Given the description of an element on the screen output the (x, y) to click on. 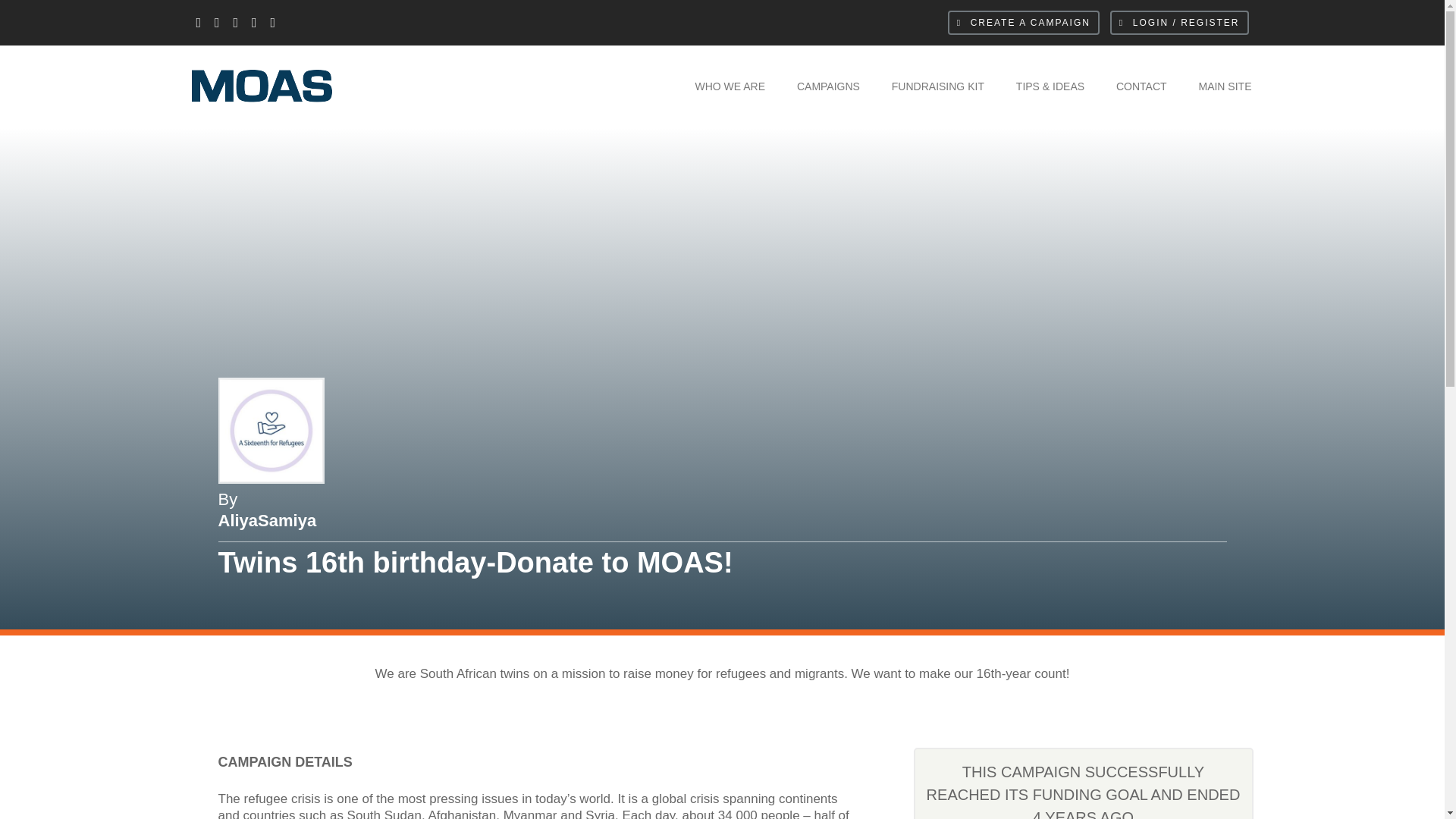
CAMPAIGNS (827, 86)
Go to homepage (228, 128)
MOAS (228, 128)
CONTACT (1142, 86)
FUNDRAISING KIT (937, 86)
CREATE A CAMPAIGN (1023, 22)
AliyaSamiya (267, 520)
MAIN SITE (1224, 86)
WHO WE ARE (730, 86)
